Given the description of an element on the screen output the (x, y) to click on. 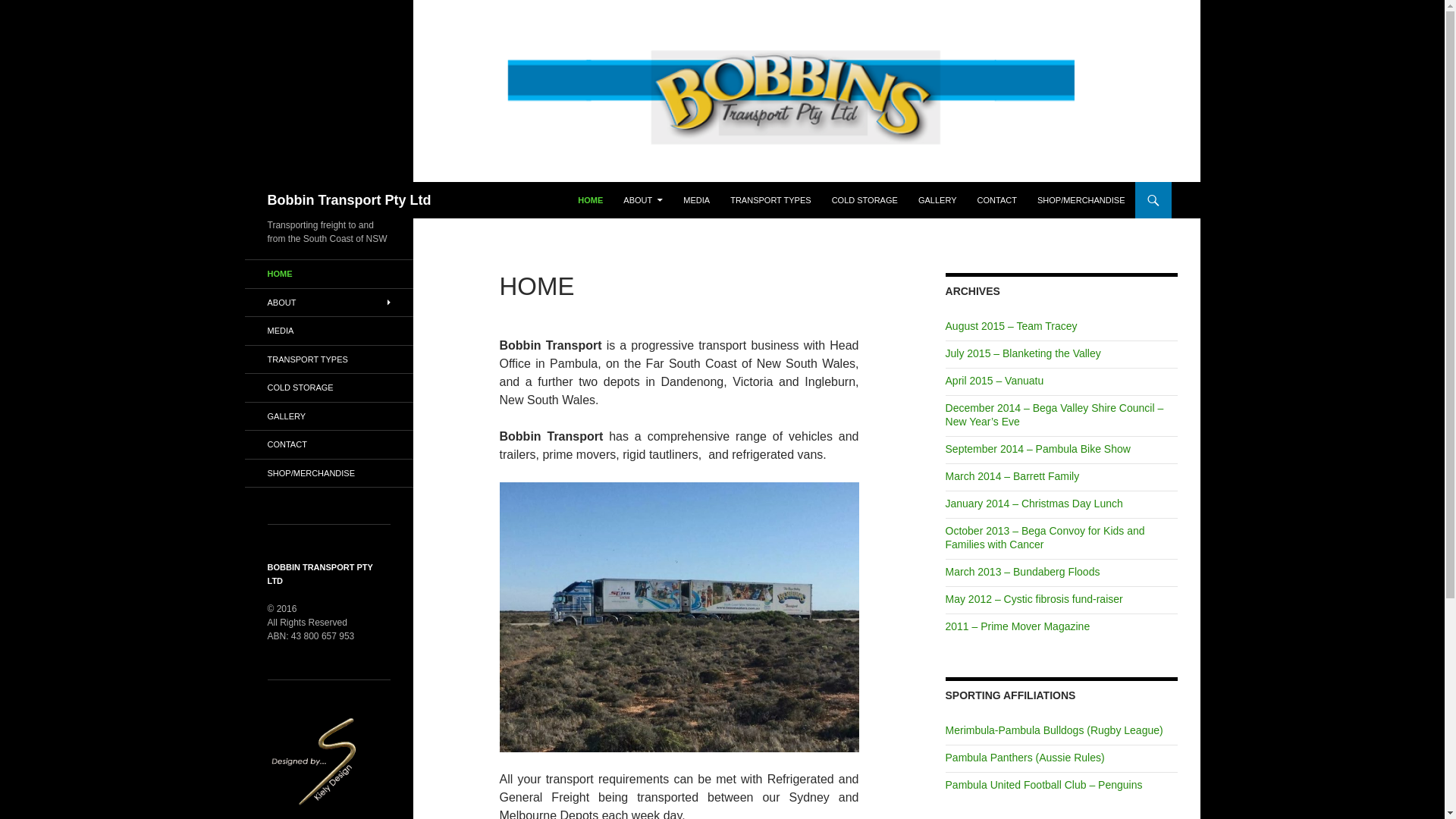
COLD STORAGE (864, 199)
HOME (590, 199)
ABOUT (642, 199)
Bobbin Transport Pty Ltd (348, 199)
GALLERY (937, 199)
HOME (328, 274)
MEDIA (696, 199)
TRANSPORT TYPES (769, 199)
